Given the description of an element on the screen output the (x, y) to click on. 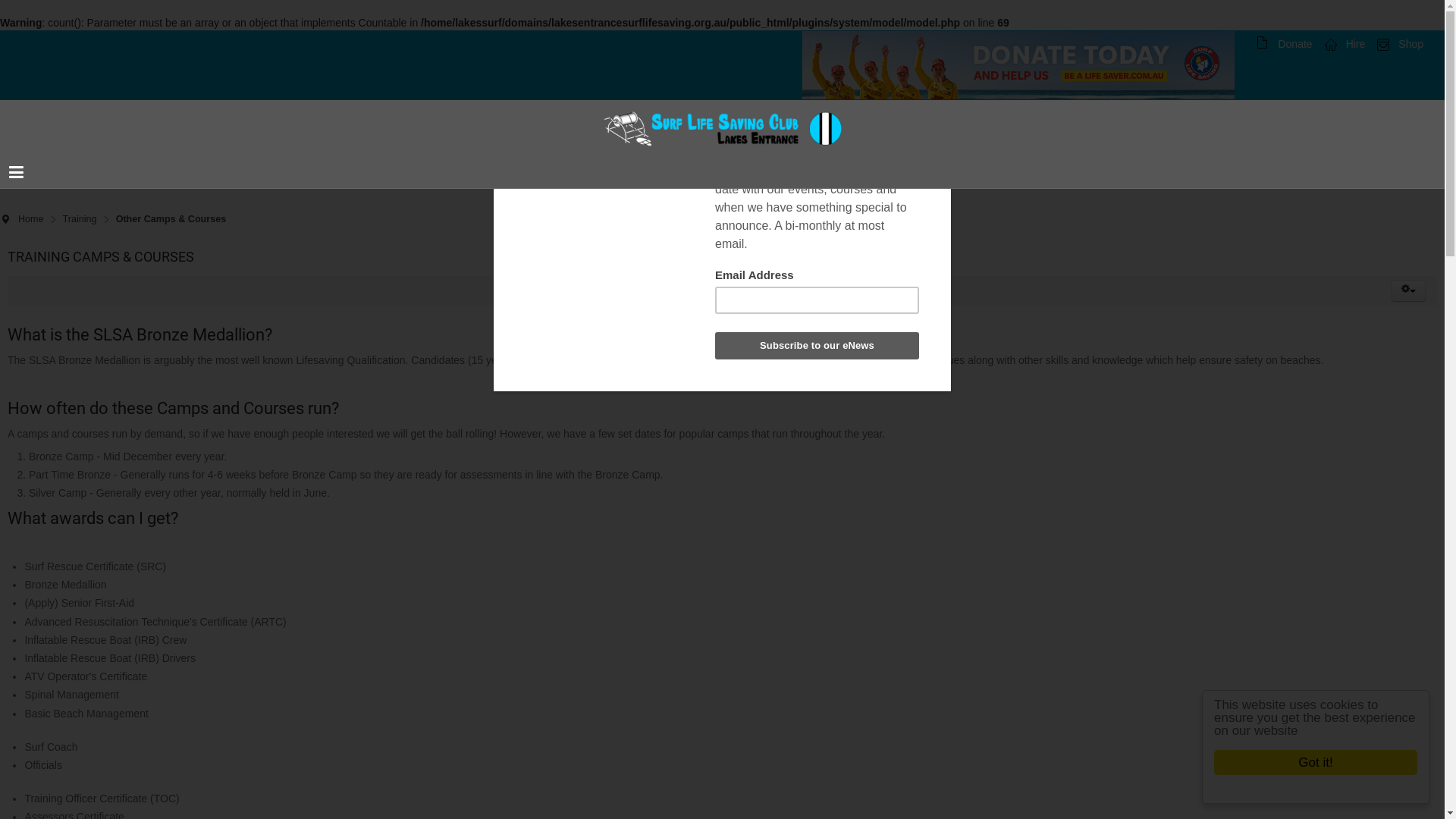
Shop Element type: text (1400, 43)
Donate Today Element type: hover (1018, 65)
Saving Lives Since 1956 Element type: hover (722, 128)
Hire Element type: text (1344, 43)
Home Element type: text (36, 218)
You are here:  Element type: hover (5, 219)
Got it! Element type: text (1315, 762)
Donate Element type: text (1283, 43)
